Given the description of an element on the screen output the (x, y) to click on. 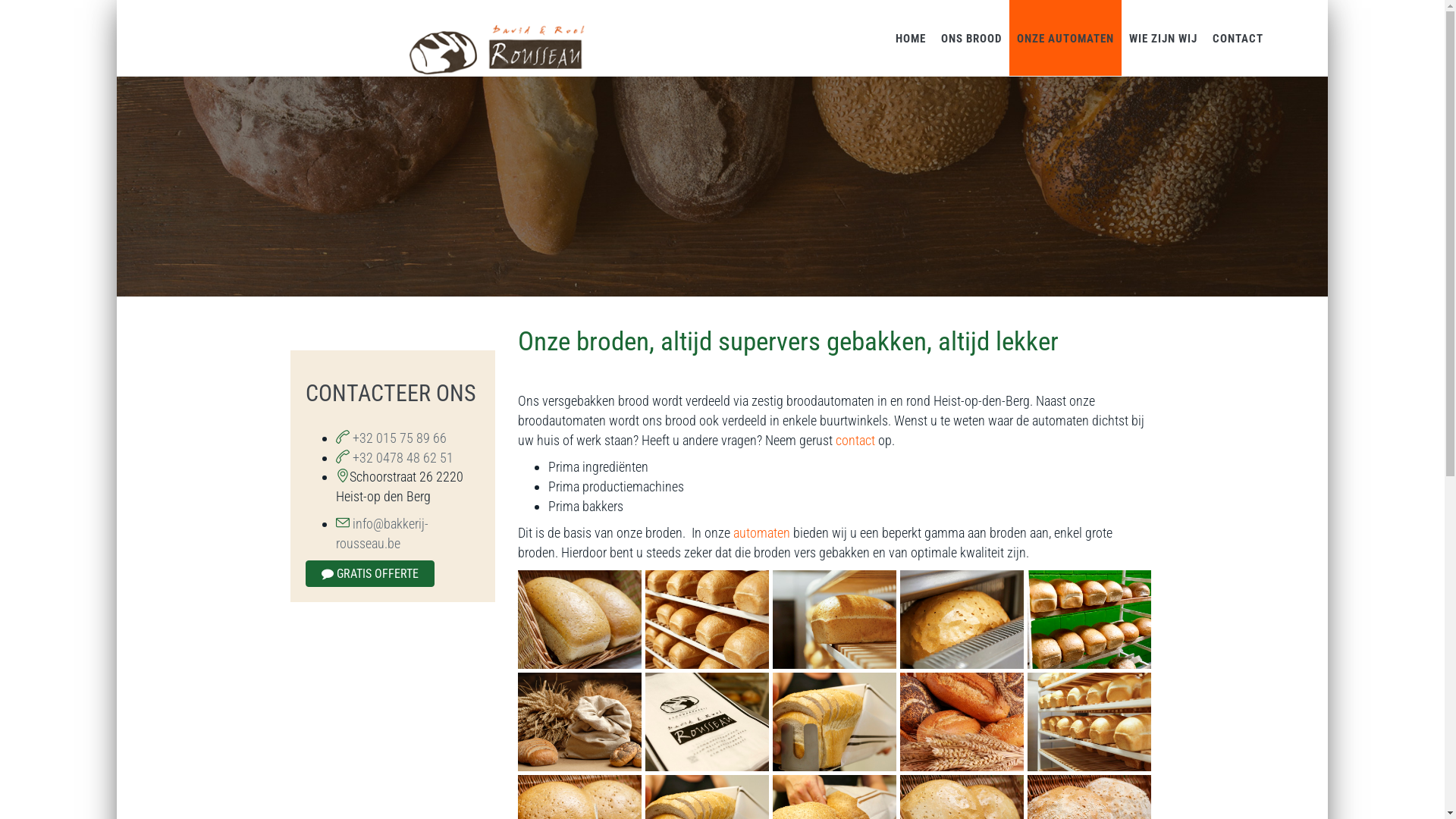
WIE ZIJN WIJ Element type: text (1162, 37)
HOME Element type: text (910, 37)
CONTACT Element type: text (1237, 37)
ONZE AUTOMATEN Element type: text (1065, 37)
automaten Element type: text (760, 532)
 GRATIS OFFERTE Element type: text (368, 573)
ONS BROOD Element type: text (971, 37)
+32 0478 48 62 51 Element type: text (400, 457)
contact Element type: text (855, 440)
info@bakkerij-rousseau.be Element type: text (381, 533)
+32 015 75 89 66 Element type: text (396, 437)
